Given the description of an element on the screen output the (x, y) to click on. 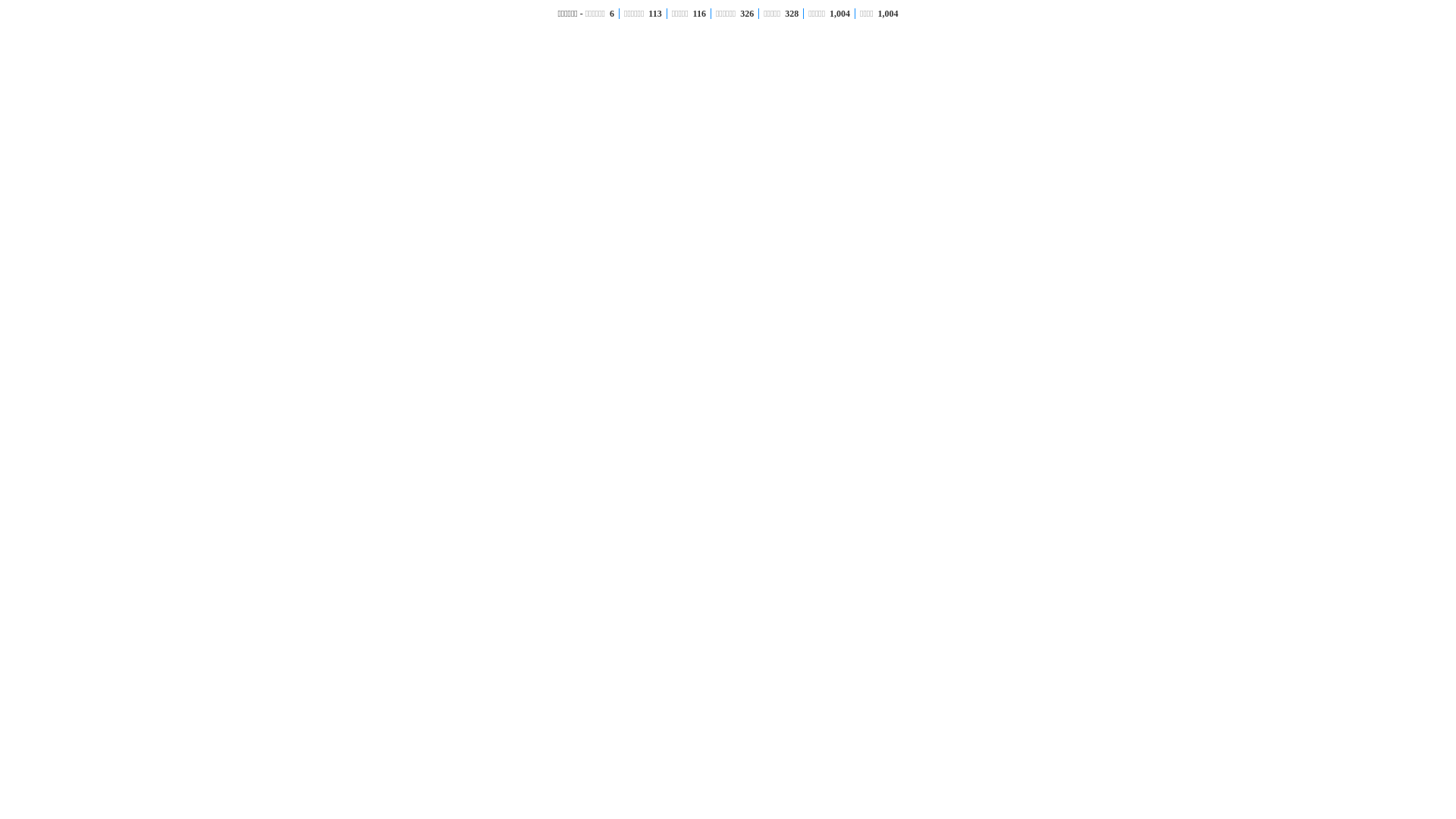
SUBMIT Element type: text (938, 671)
